Given the description of an element on the screen output the (x, y) to click on. 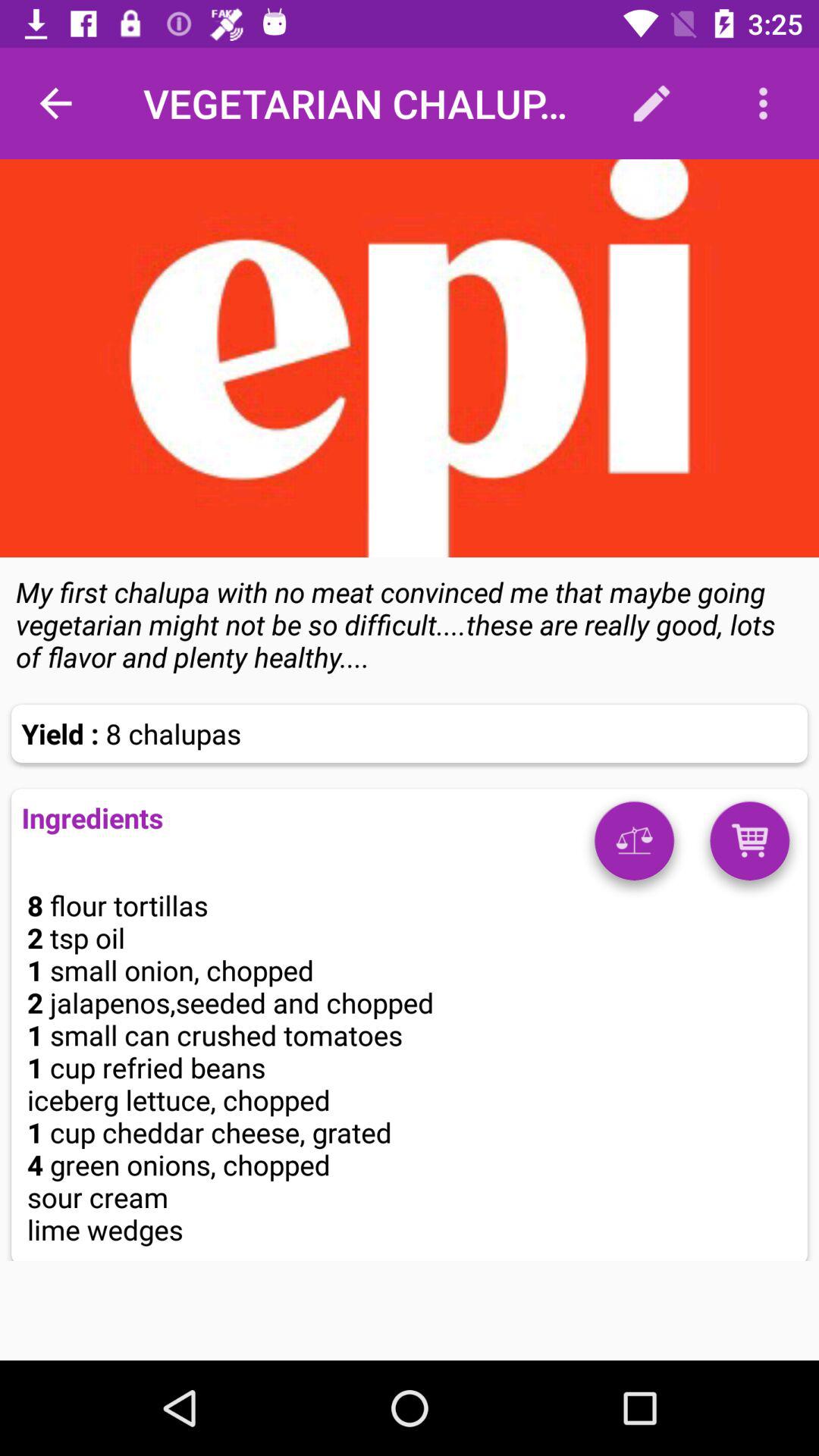
shop ingredients (749, 846)
